Given the description of an element on the screen output the (x, y) to click on. 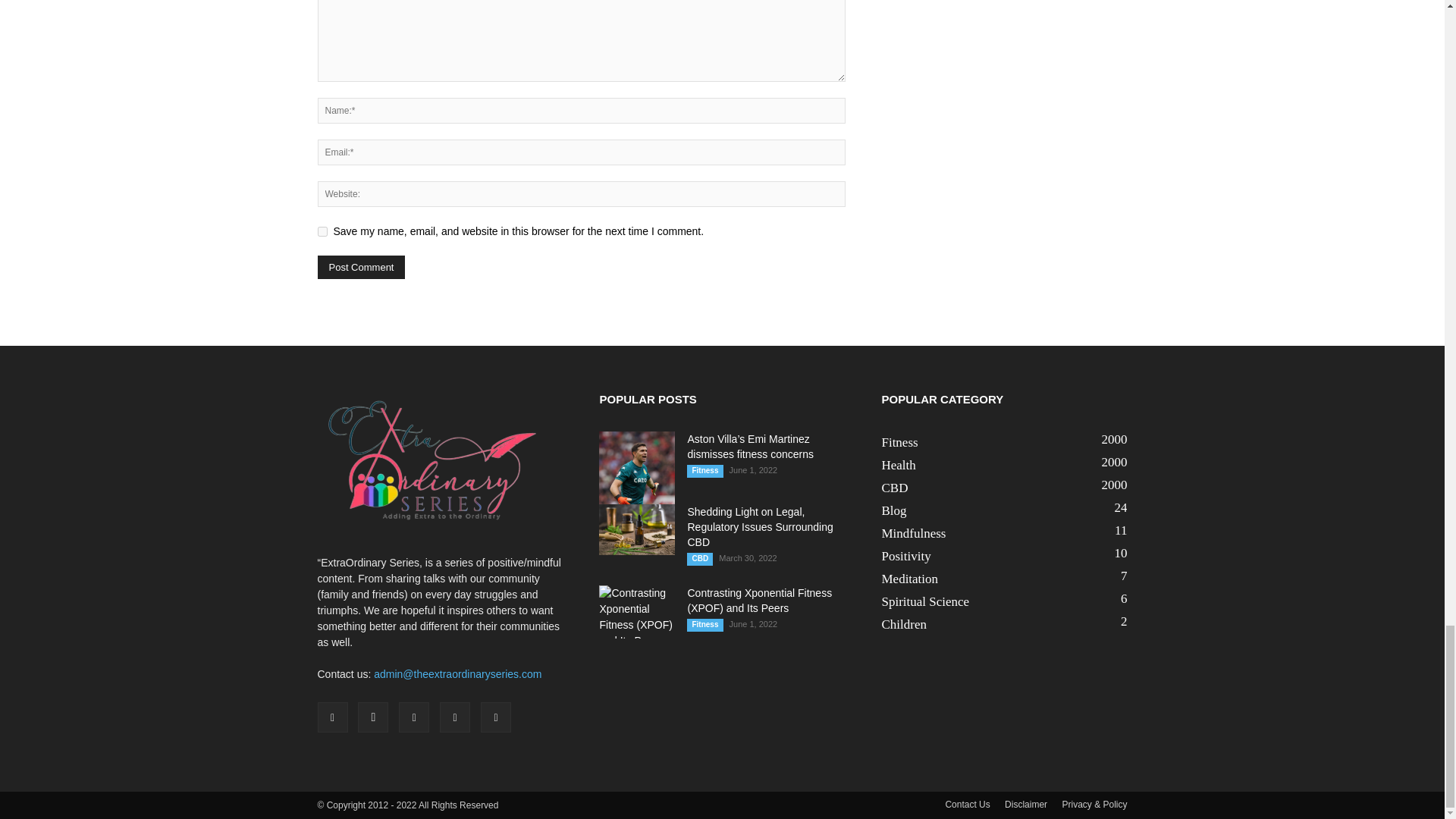
Post Comment (360, 267)
yes (321, 231)
